Given the description of an element on the screen output the (x, y) to click on. 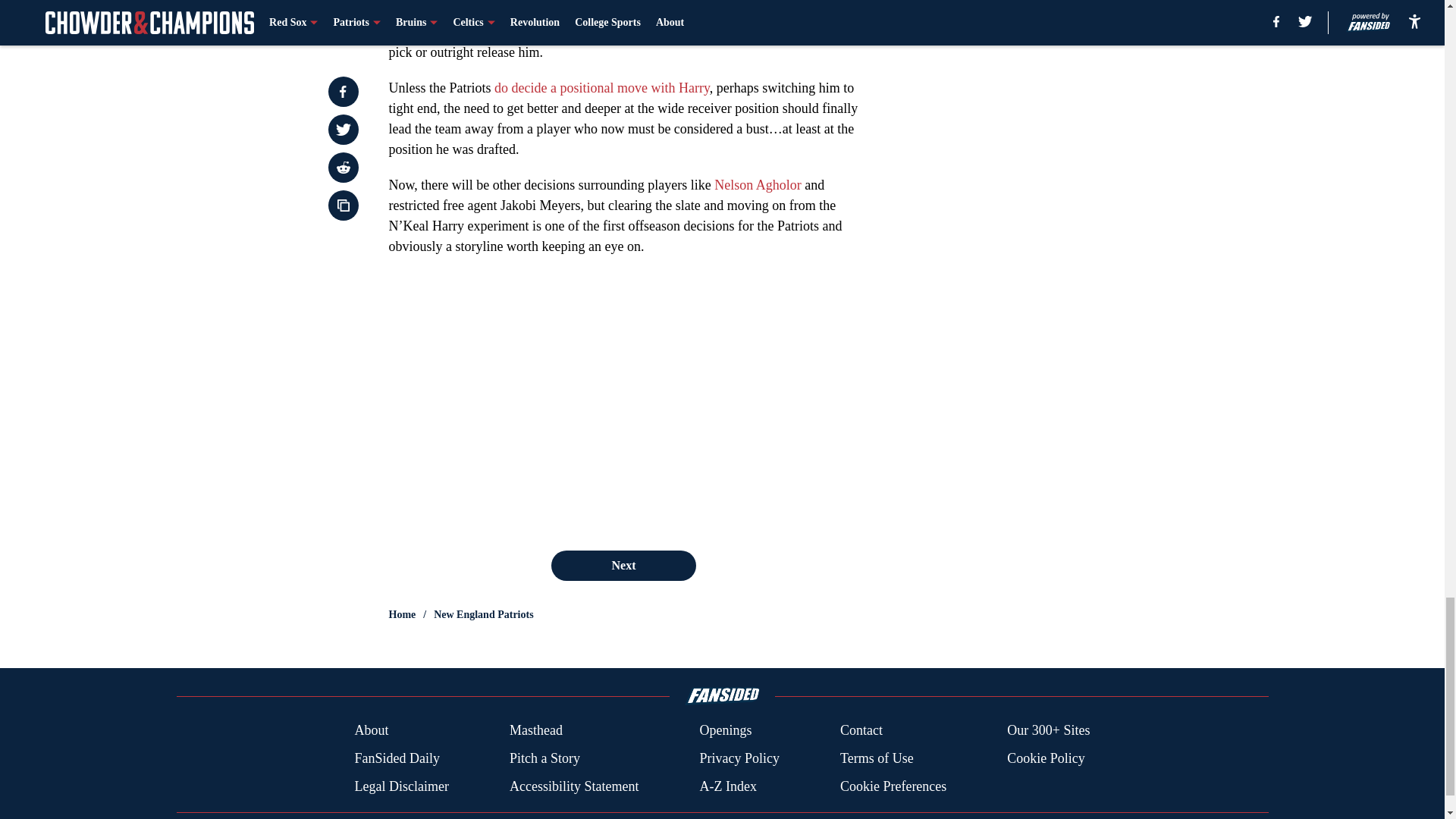
do decide a positional move with Harry (602, 320)
New England Patriots (482, 614)
Nelson Agholor (758, 417)
About (370, 730)
Next (622, 565)
Home (401, 614)
